Given the description of an element on the screen output the (x, y) to click on. 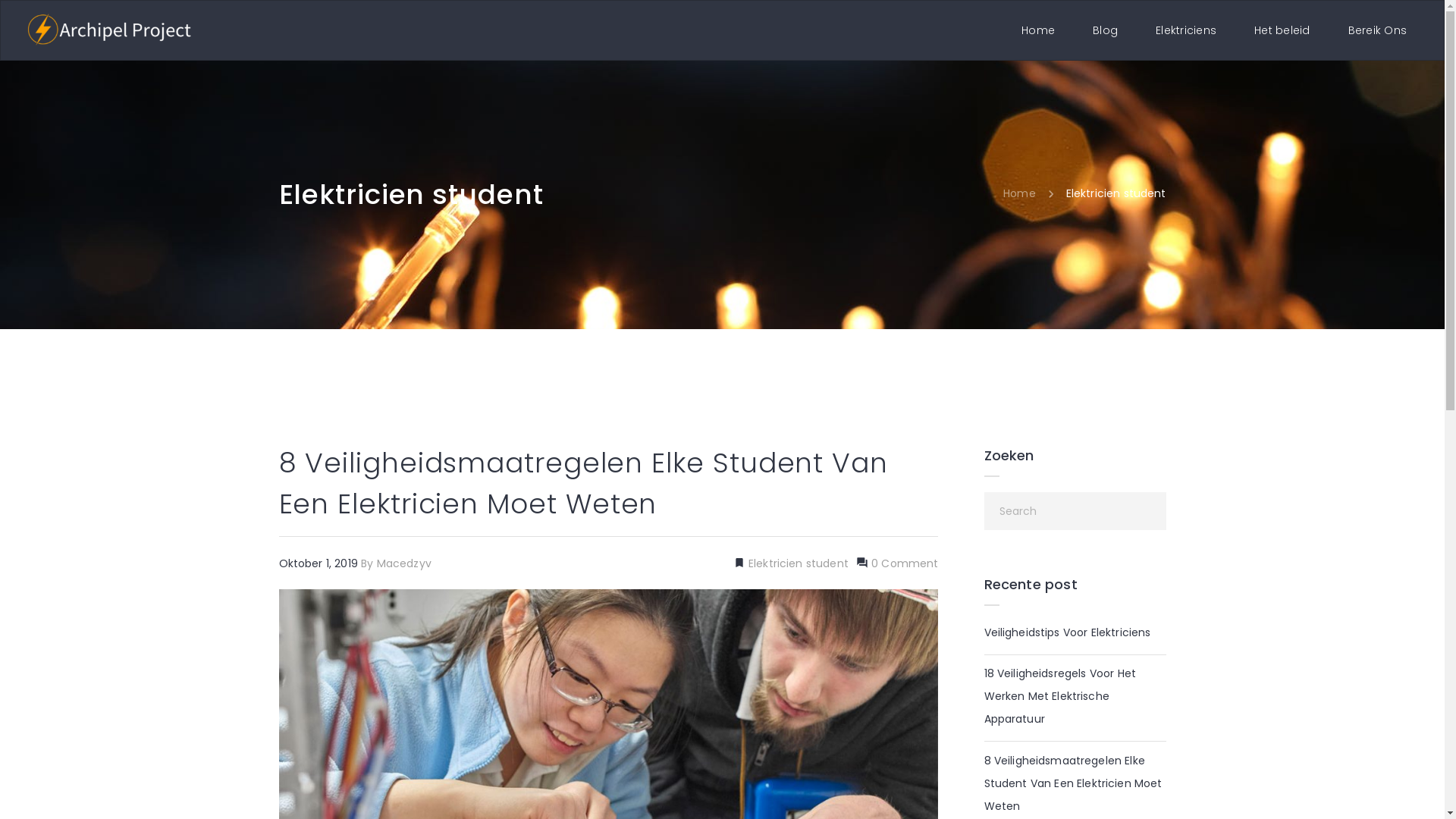
Elektricien student Element type: text (796, 563)
Home Element type: text (1019, 192)
Veiligheidstips Voor Elektriciens Element type: text (1067, 632)
Home Element type: text (1037, 29)
Oktober 1, 2019 Element type: text (320, 563)
Bereik Ons Element type: text (1376, 29)
Het beleid Element type: text (1282, 29)
0 Comment Element type: text (903, 563)
Elektriciens Element type: text (1185, 29)
Macedzyv Element type: text (403, 563)
Blog Element type: text (1104, 29)
